Given the description of an element on the screen output the (x, y) to click on. 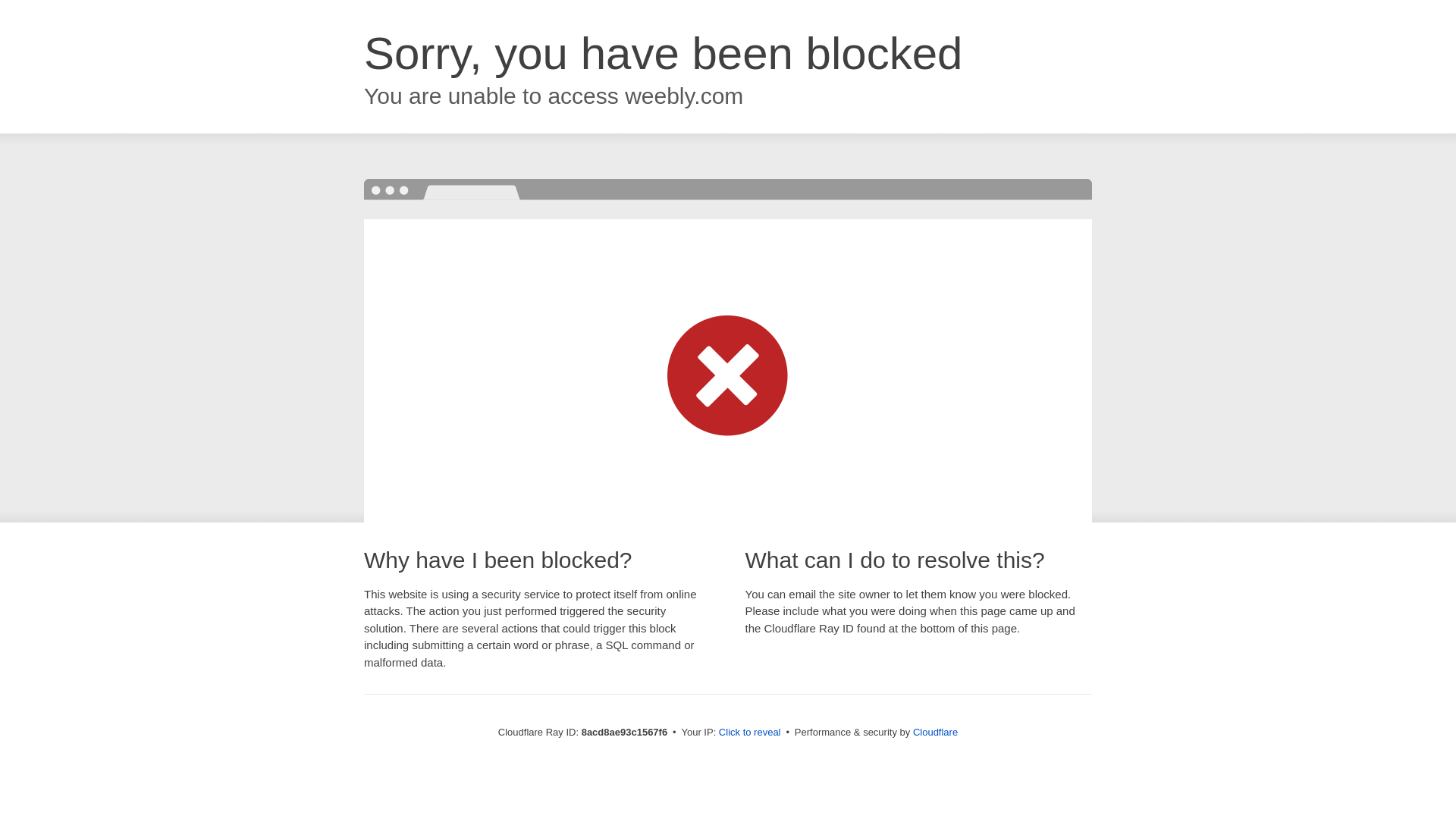
Click to reveal (749, 732)
Cloudflare (935, 731)
